Given the description of an element on the screen output the (x, y) to click on. 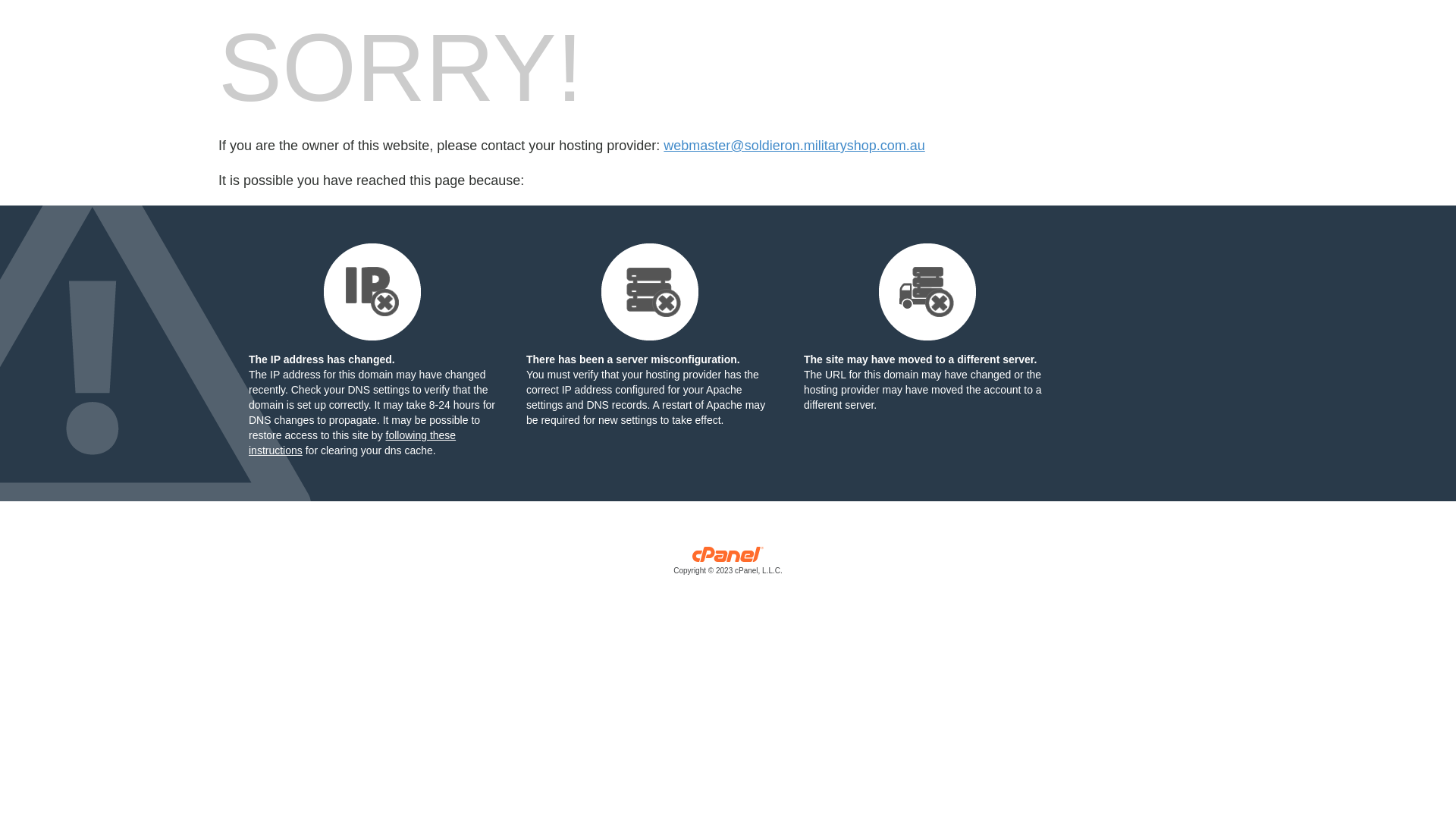
following these instructions Element type: text (351, 442)
webmaster@soldieron.militaryshop.com.au Element type: text (793, 145)
